Given the description of an element on the screen output the (x, y) to click on. 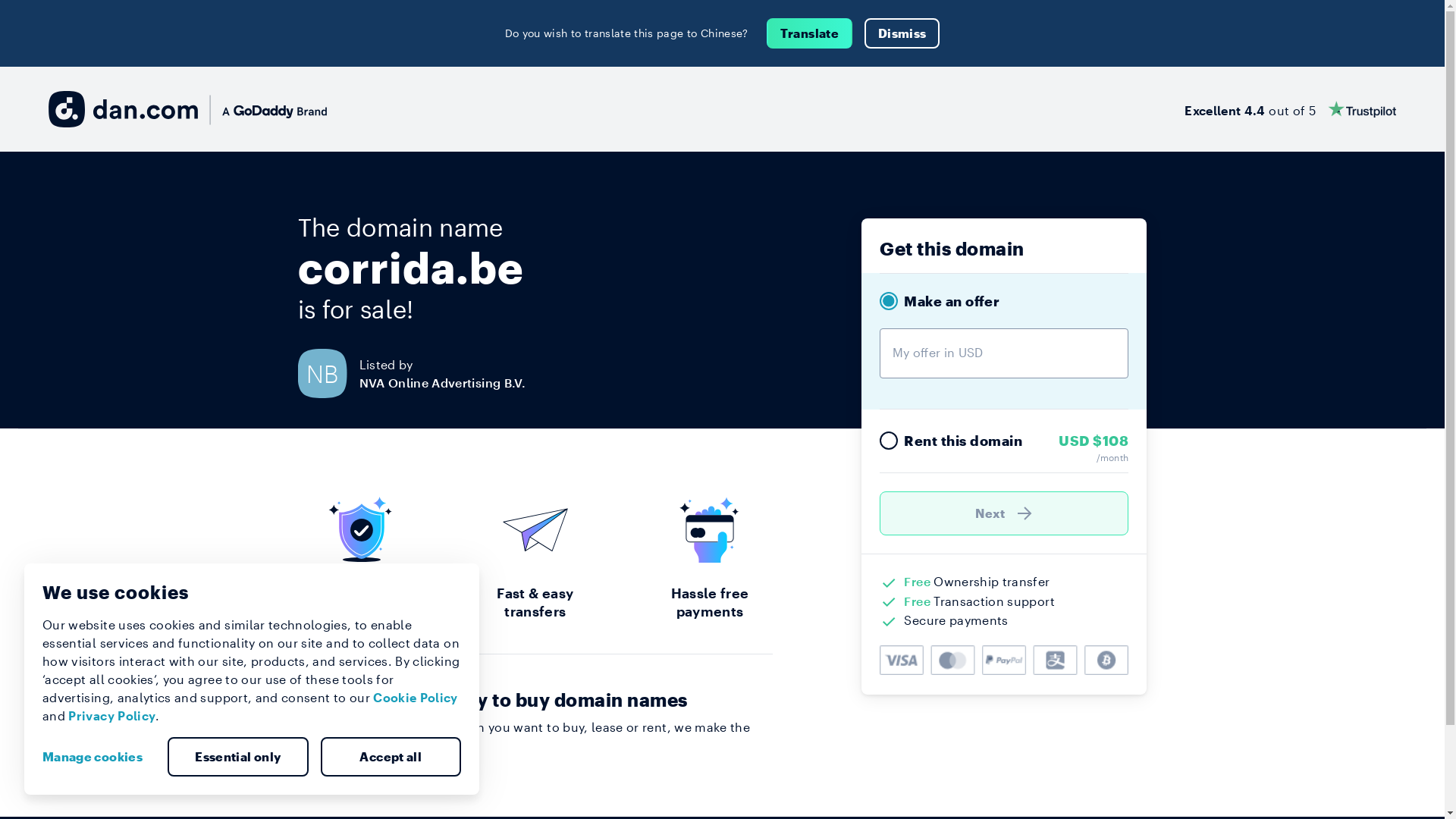
Essential only Element type: text (237, 756)
Accept all Element type: text (390, 756)
Excellent 4.4 out of 5 Element type: text (1290, 109)
Translate Element type: text (809, 33)
Next
) Element type: text (1003, 513)
Cookie Policy Element type: text (415, 697)
Privacy Policy Element type: text (111, 715)
Manage cookies Element type: text (98, 756)
Dismiss Element type: text (901, 33)
